Given the description of an element on the screen output the (x, y) to click on. 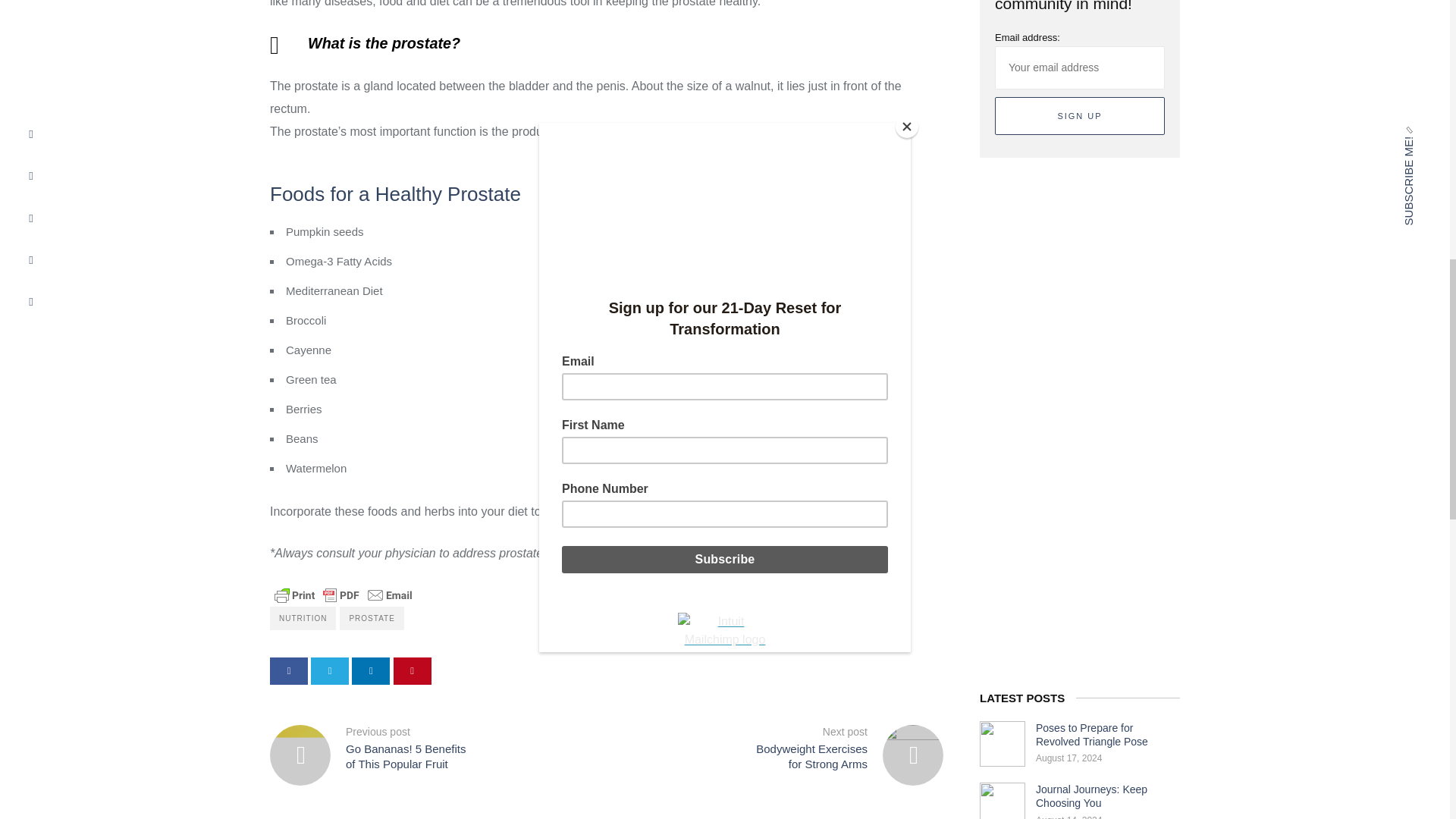
PROSTATE (371, 617)
NUTRITION (302, 617)
pinterest (411, 670)
twitter (330, 670)
Sign up (1079, 116)
facebook (288, 670)
